Given the description of an element on the screen output the (x, y) to click on. 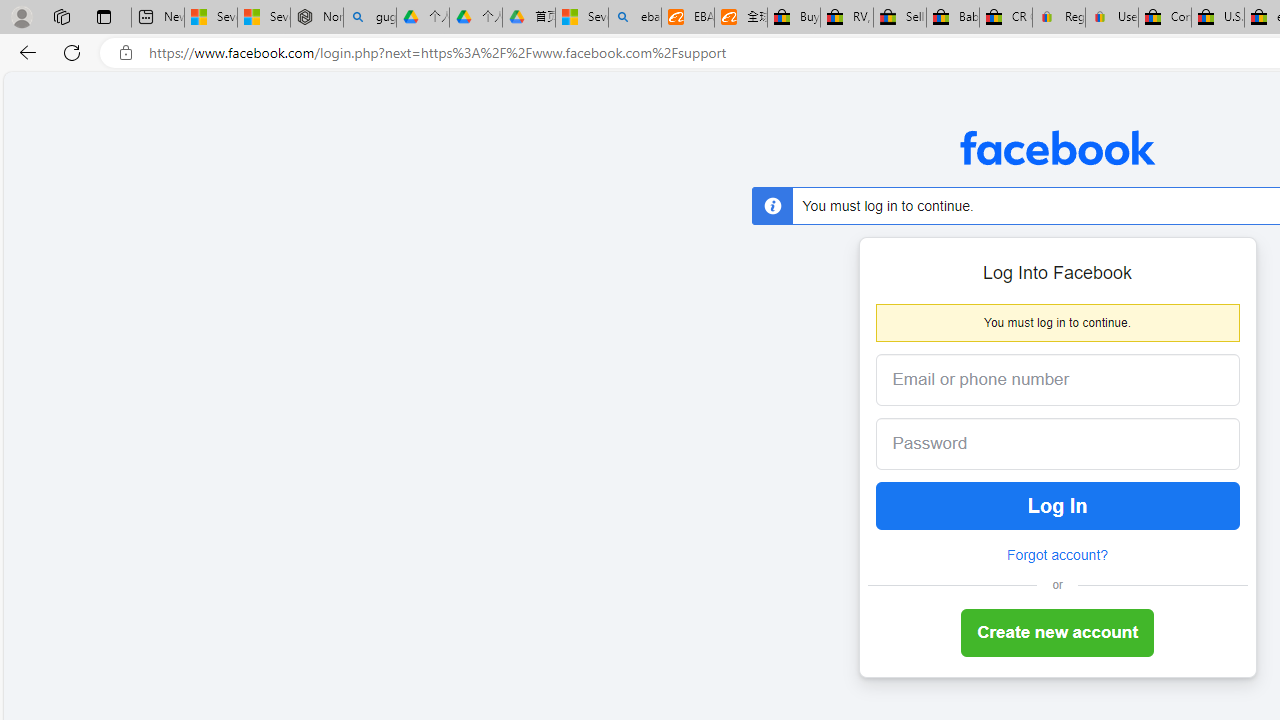
Sell worldwide with eBay (899, 17)
Facebook (1056, 147)
Email or phone number (1057, 380)
RV, Trailer & Camper Steps & Ladders for sale | eBay (846, 17)
guge yunpan - Search (369, 17)
Register: Create a personal eBay account (1059, 17)
User Privacy Notice | eBay (1111, 17)
